Given the description of an element on the screen output the (x, y) to click on. 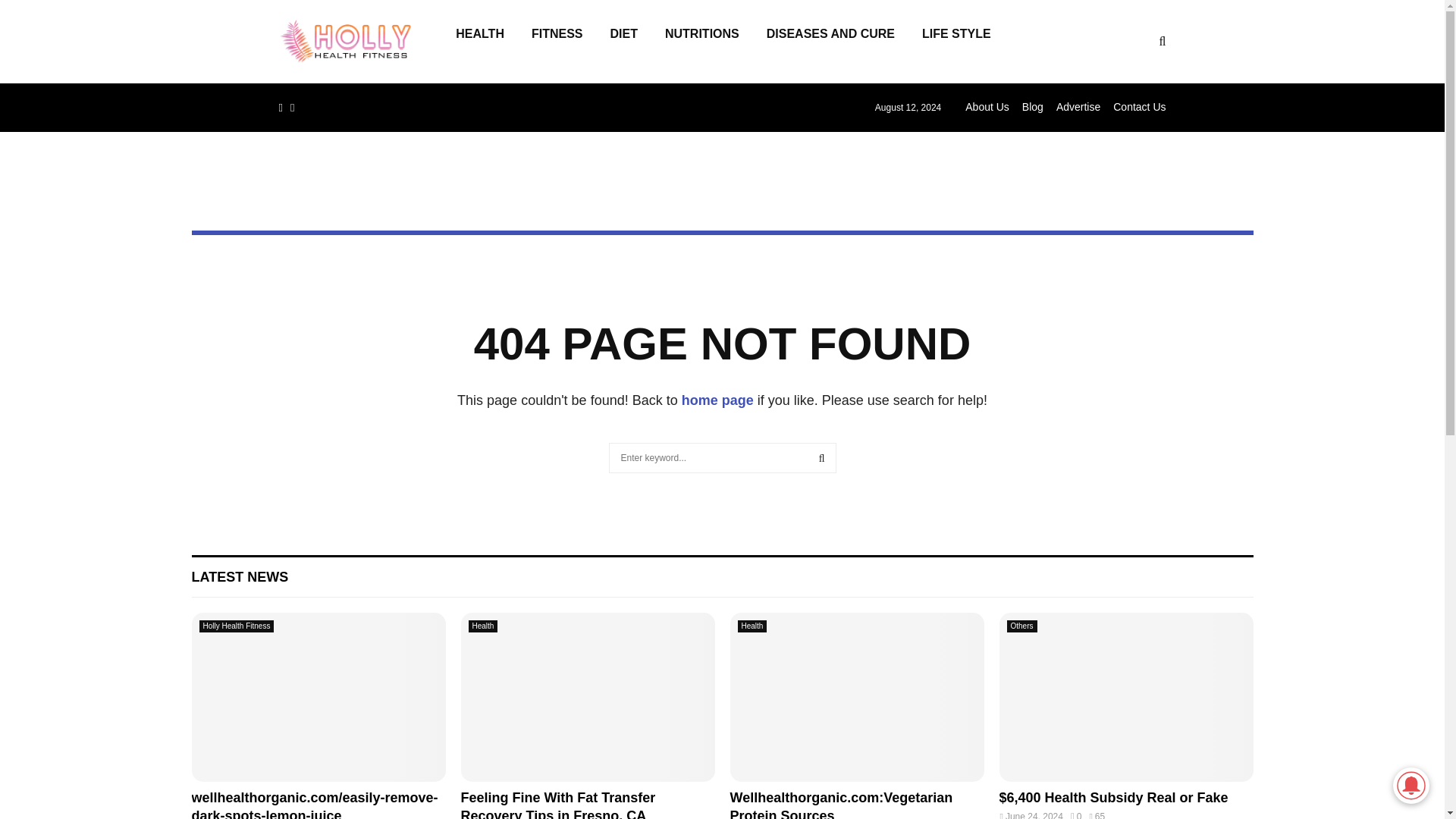
Health (482, 625)
Holly Health Fitness (235, 625)
home page (717, 400)
Wellhealthorganic.com:Vegetarian Protein Sources (840, 804)
 Feeling Fine With Fat Transfer Recovery Tips in Fresno, CA  (558, 804)
View all posts in Others (1021, 625)
SEARCH (821, 458)
Latest News (239, 576)
Contact Us (1139, 106)
 Wellhealthorganic.com:Vegetarian Protein Sources  (840, 804)
